Given the description of an element on the screen output the (x, y) to click on. 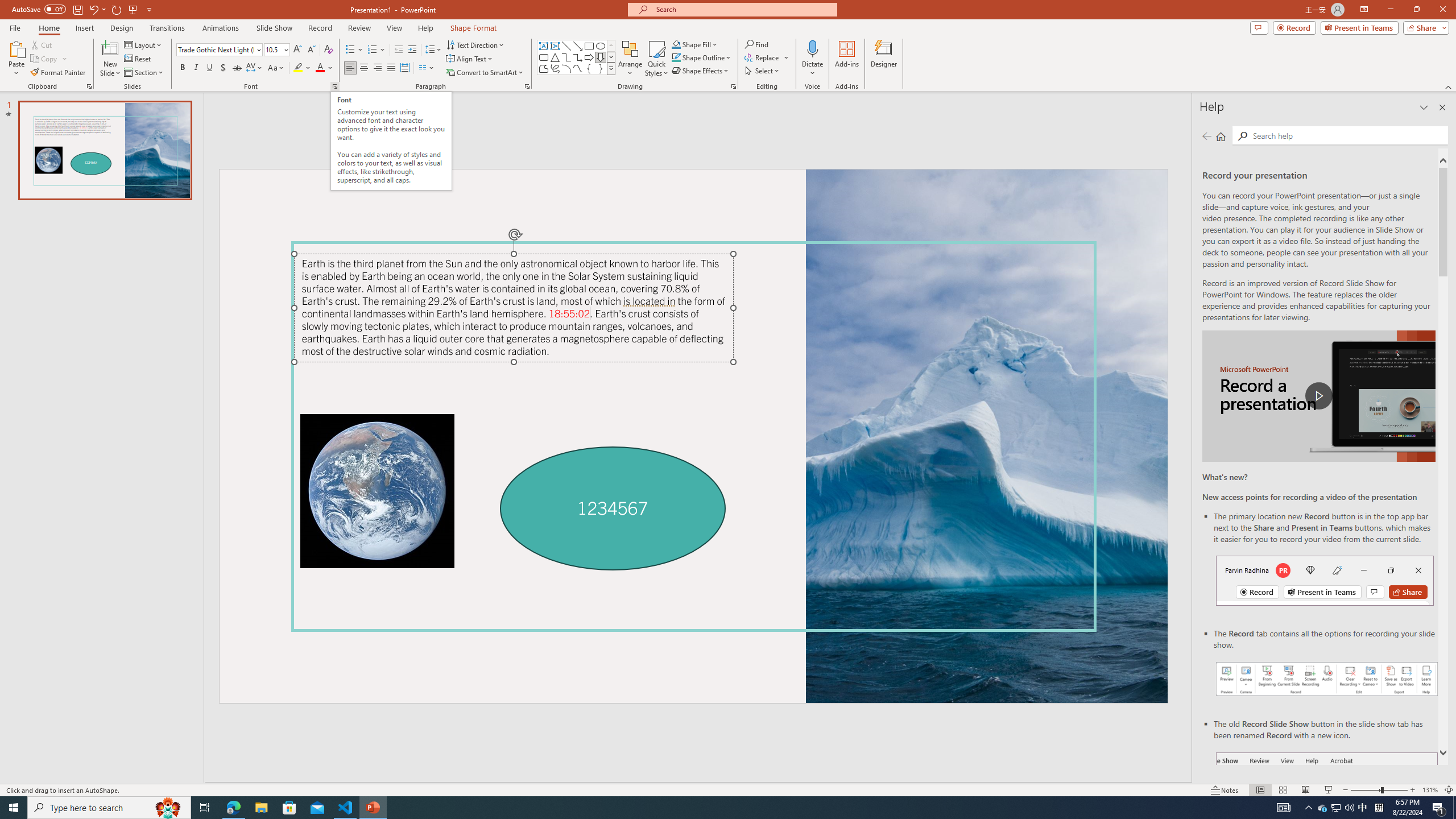
Rectangle: Rounded Corners (543, 57)
Decrease Indent (398, 49)
Font... (334, 85)
Layout (143, 44)
Vertical Text Box (554, 45)
